Given the description of an element on the screen output the (x, y) to click on. 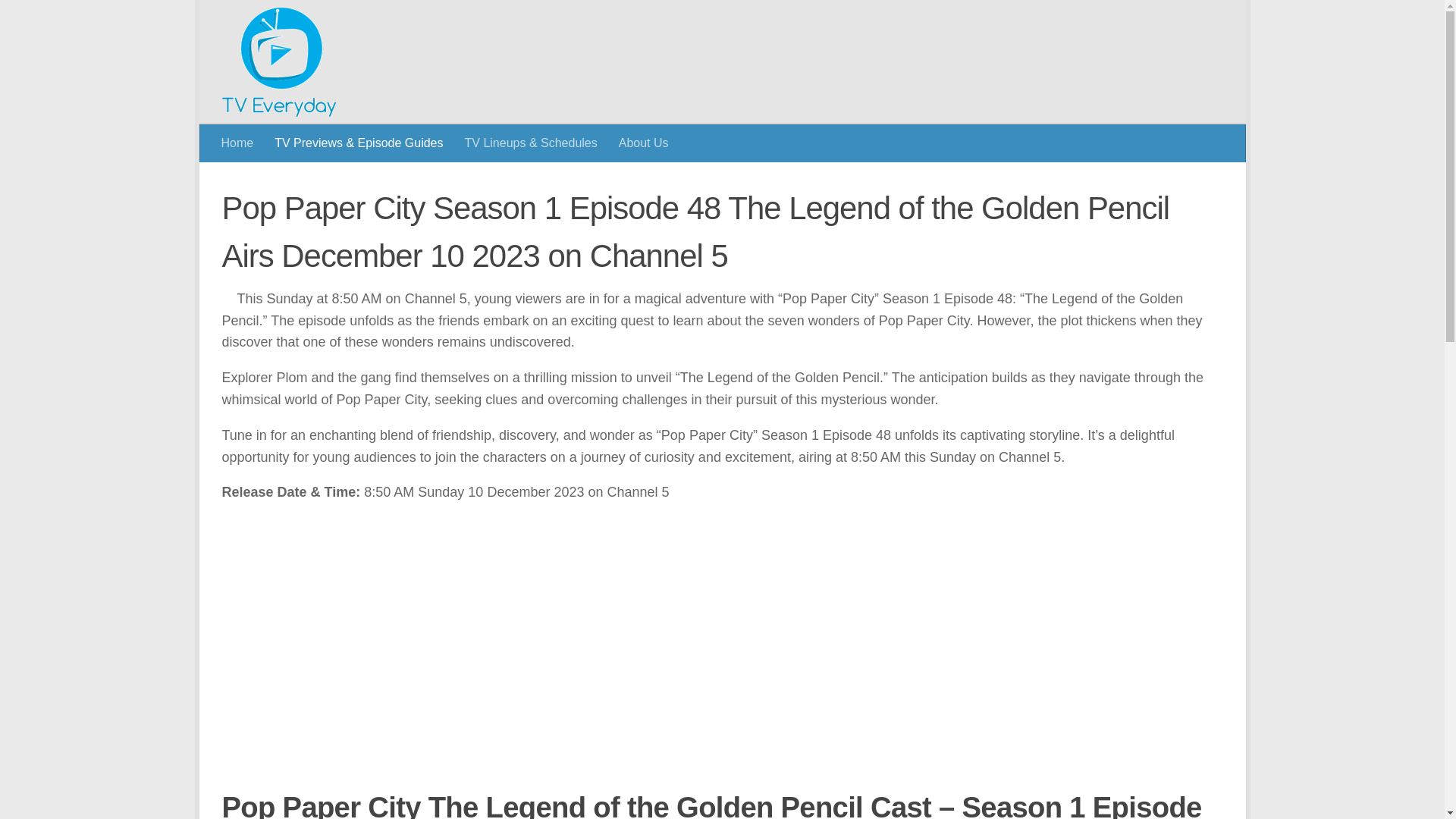
Skip to content (263, 20)
About Us (643, 143)
Home (237, 143)
